Given the description of an element on the screen output the (x, y) to click on. 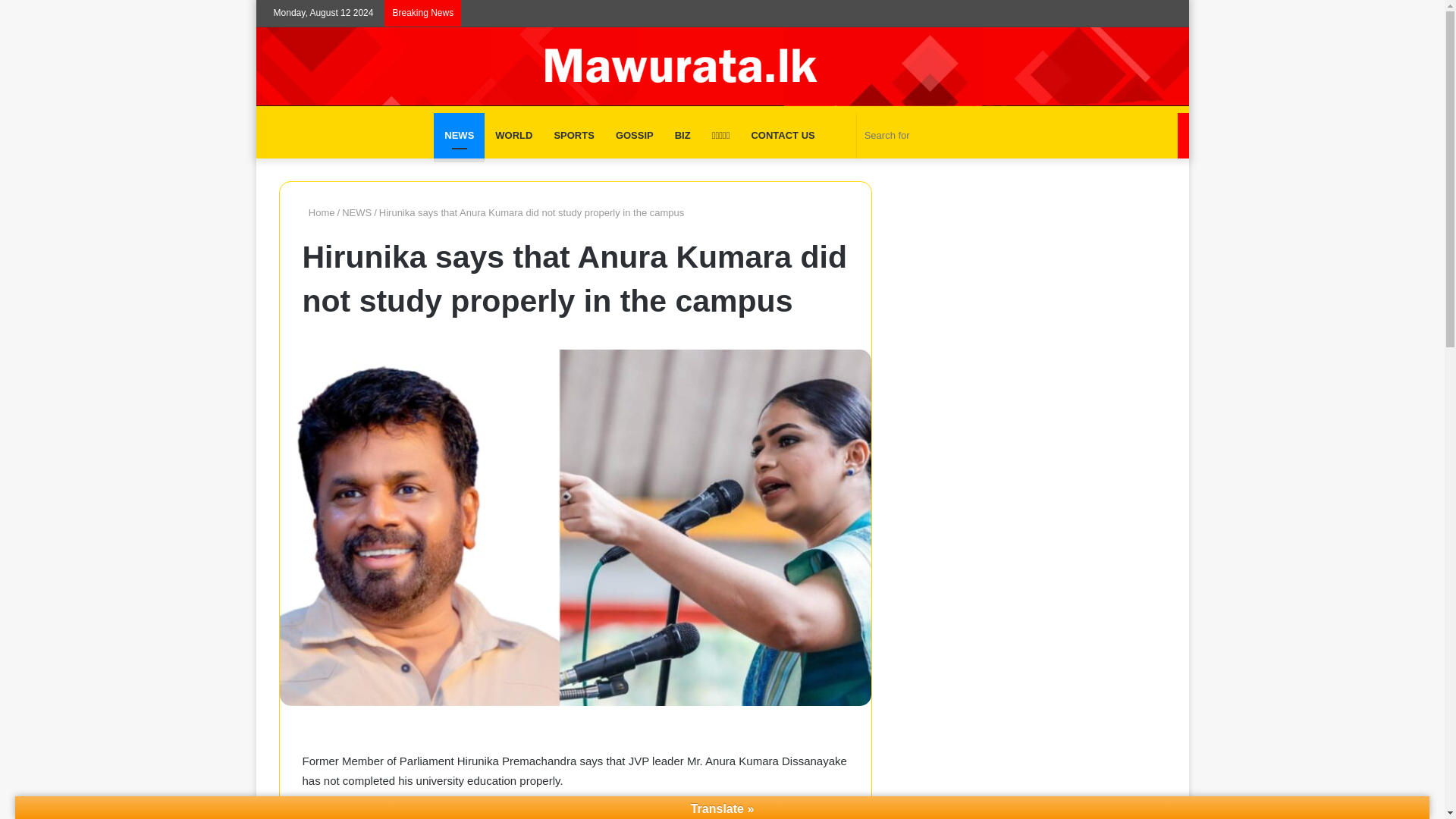
The Trending News Web Site in Sri Lanka (722, 70)
WORLD (513, 135)
GOSSIP (634, 135)
Search for (933, 135)
NEWS (356, 212)
NEWS (458, 135)
SPORTS (573, 135)
CONTACT US (782, 135)
Home (317, 212)
